Given the description of an element on the screen output the (x, y) to click on. 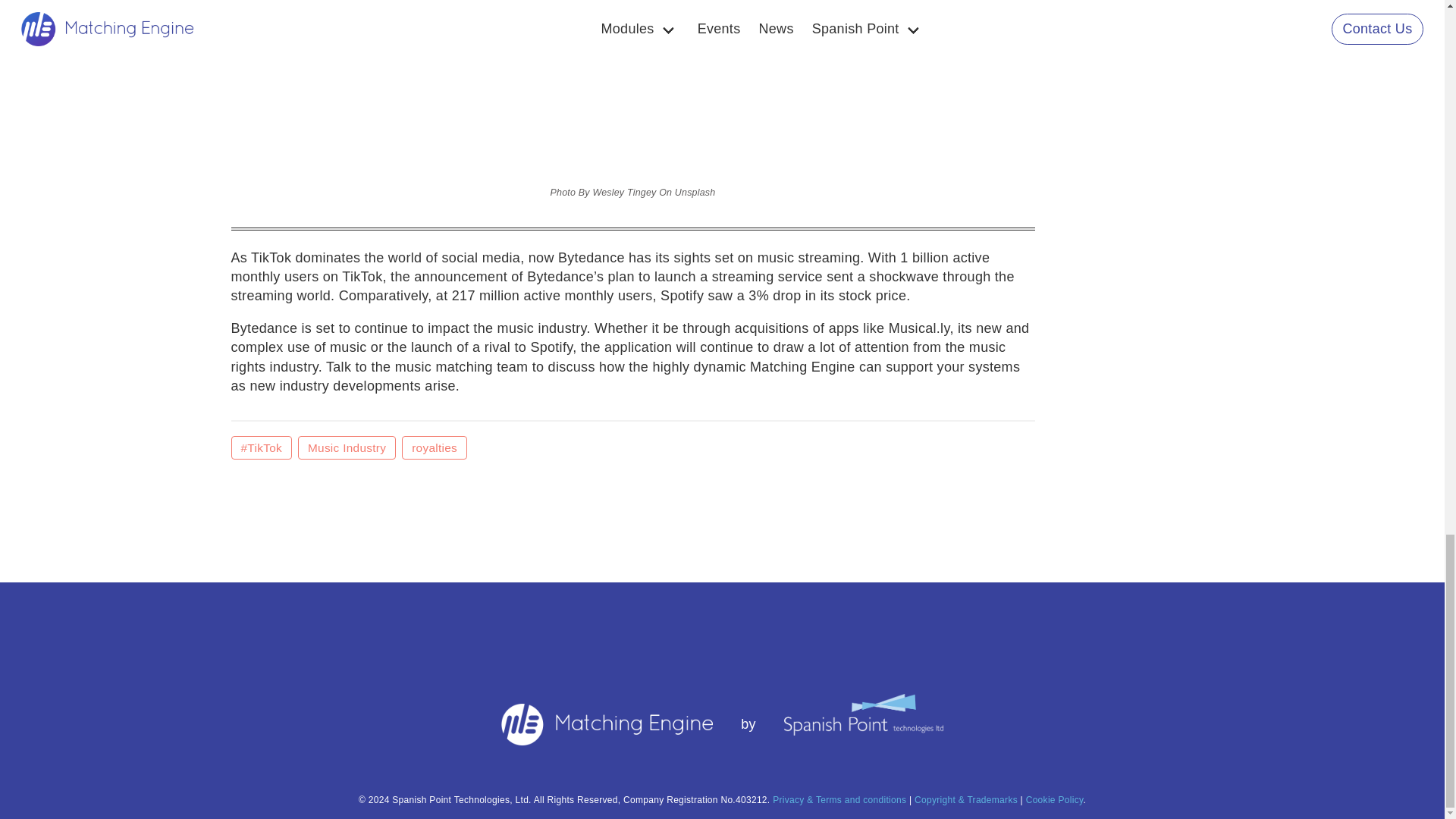
royalties (434, 447)
Music Industry (347, 447)
